Given the description of an element on the screen output the (x, y) to click on. 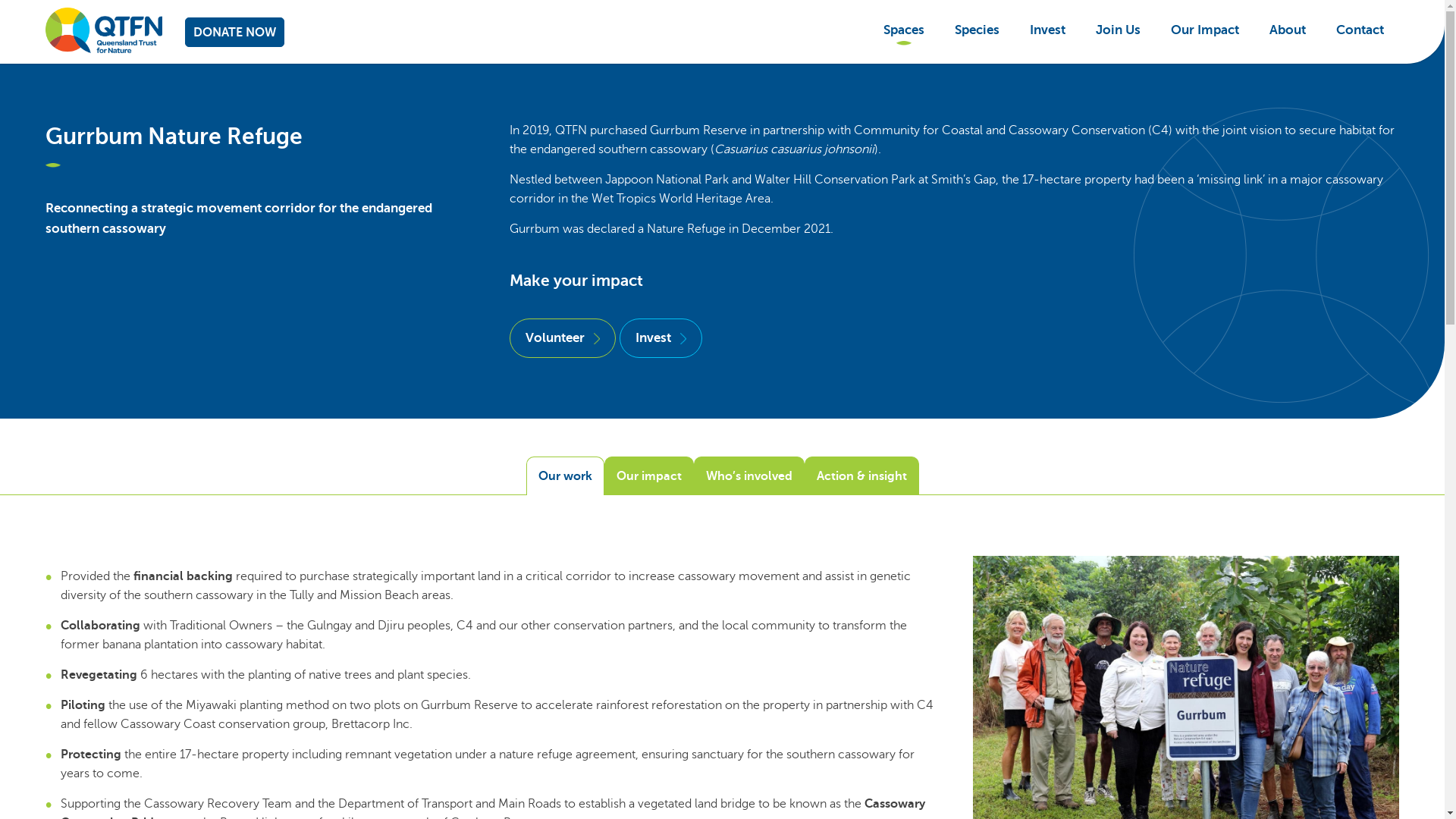
Invest Element type: text (1047, 30)
Volunteer Element type: text (562, 337)
About Element type: text (1287, 30)
Our work Element type: text (565, 475)
Spaces Element type: text (903, 30)
Invest Element type: text (660, 337)
Join Us Element type: text (1117, 30)
Our Impact Element type: text (1204, 30)
Action & insight Element type: text (860, 475)
Species Element type: text (976, 30)
Our impact Element type: text (648, 475)
Contact Element type: text (1360, 30)
DONATE NOW Element type: text (234, 31)
